Given the description of an element on the screen output the (x, y) to click on. 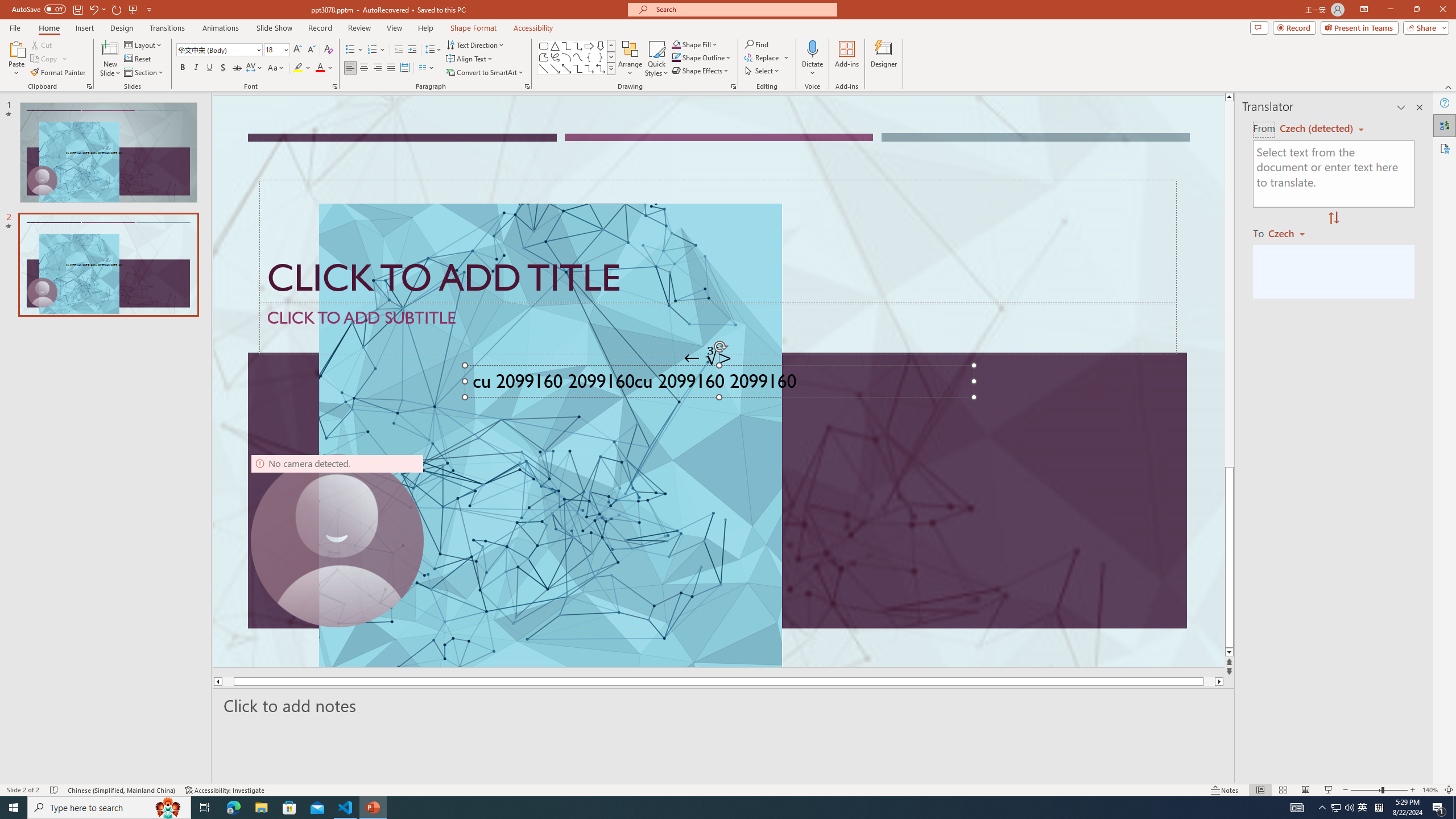
TextBox 61 (717, 383)
Camera 9, No camera detected. (336, 540)
